Given the description of an element on the screen output the (x, y) to click on. 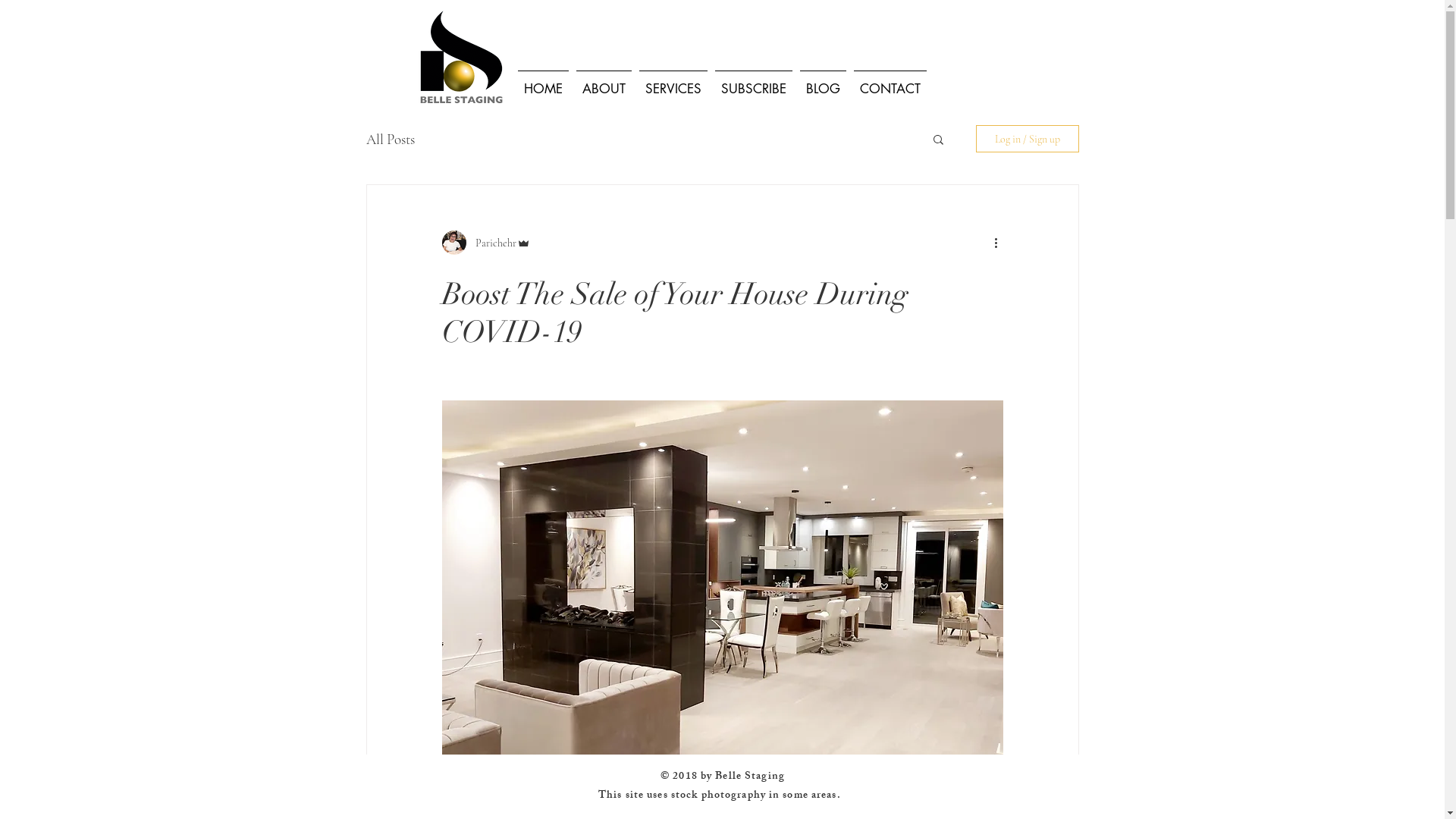
ABOUT Element type: text (603, 82)
SUBSCRIBE Element type: text (753, 82)
Belle Staging Element type: text (749, 776)
HOME Element type: text (543, 82)
All Posts Element type: text (389, 138)
Log in / Sign up Element type: text (1026, 138)
BLOG Element type: text (823, 82)
SERVICES Element type: text (673, 82)
CONTACT Element type: text (890, 82)
